Given the description of an element on the screen output the (x, y) to click on. 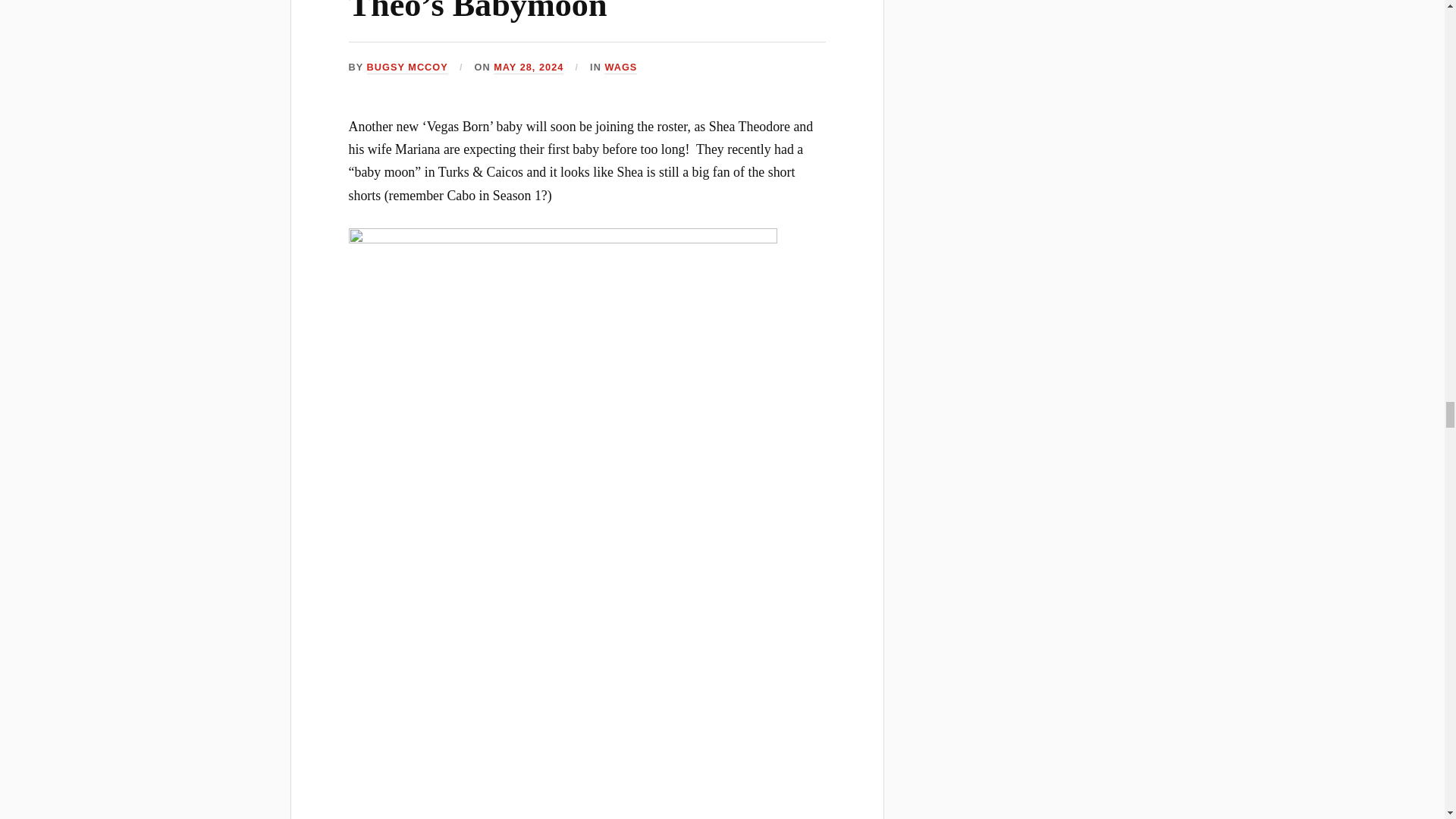
Posts by Bugsy McCoy (407, 67)
